Given the description of an element on the screen output the (x, y) to click on. 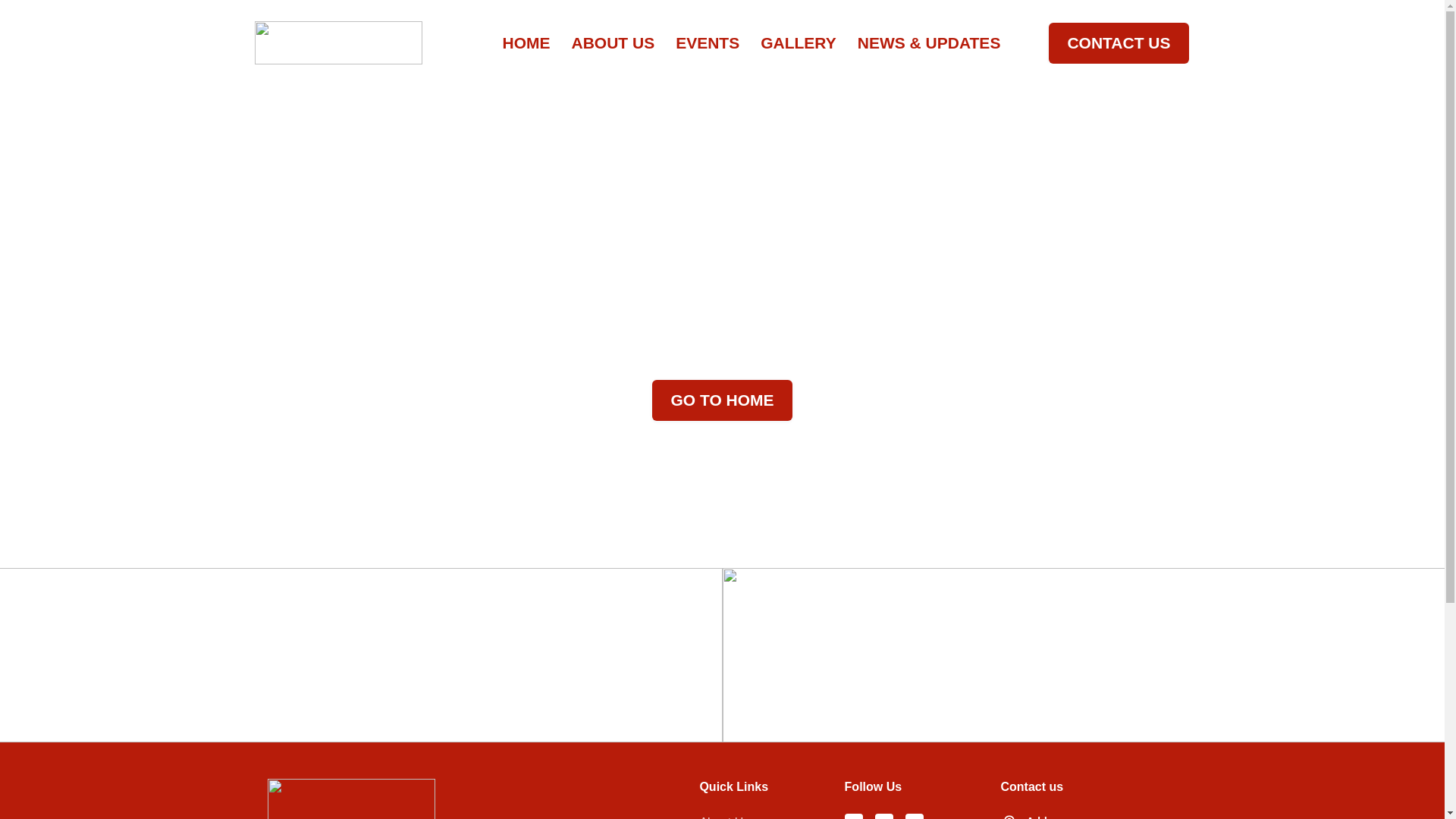
About Us (723, 816)
EVENTS (707, 43)
HOME (526, 43)
ABOUT US (613, 43)
GALLERY (797, 43)
GO TO HOME (722, 400)
CONTACT US (1118, 42)
